Given the description of an element on the screen output the (x, y) to click on. 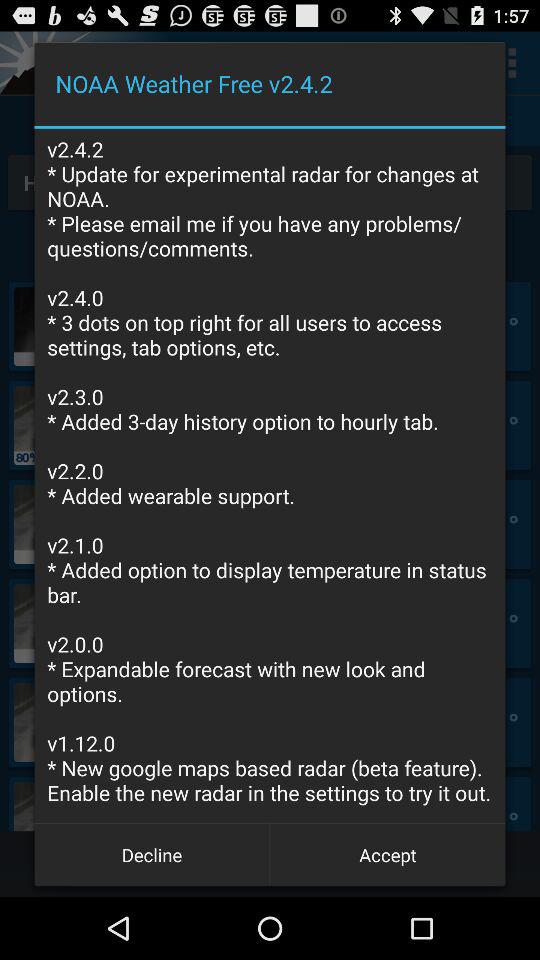
open the decline icon (151, 854)
